Given the description of an element on the screen output the (x, y) to click on. 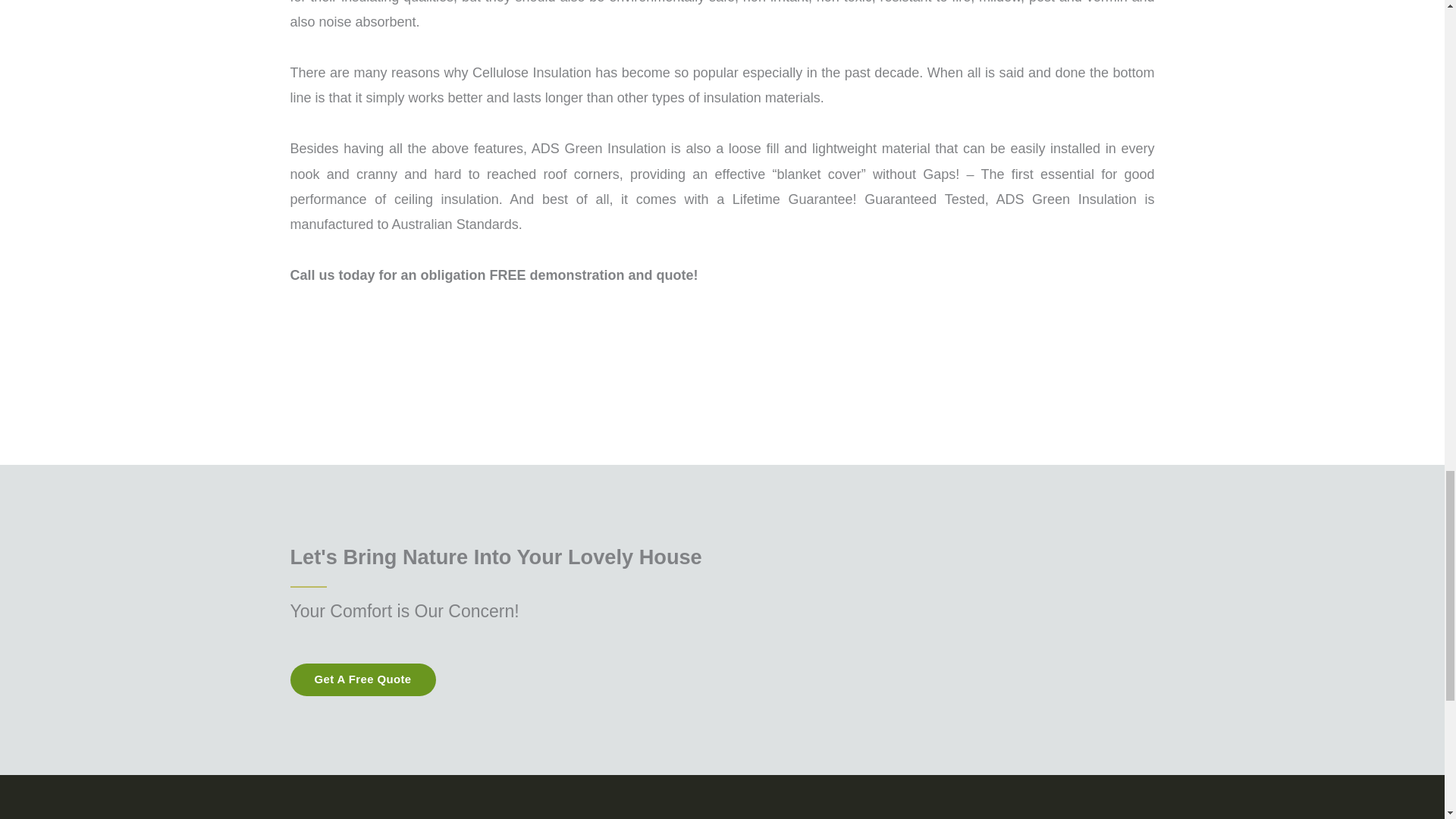
Get A Free Quote (362, 679)
